Given the description of an element on the screen output the (x, y) to click on. 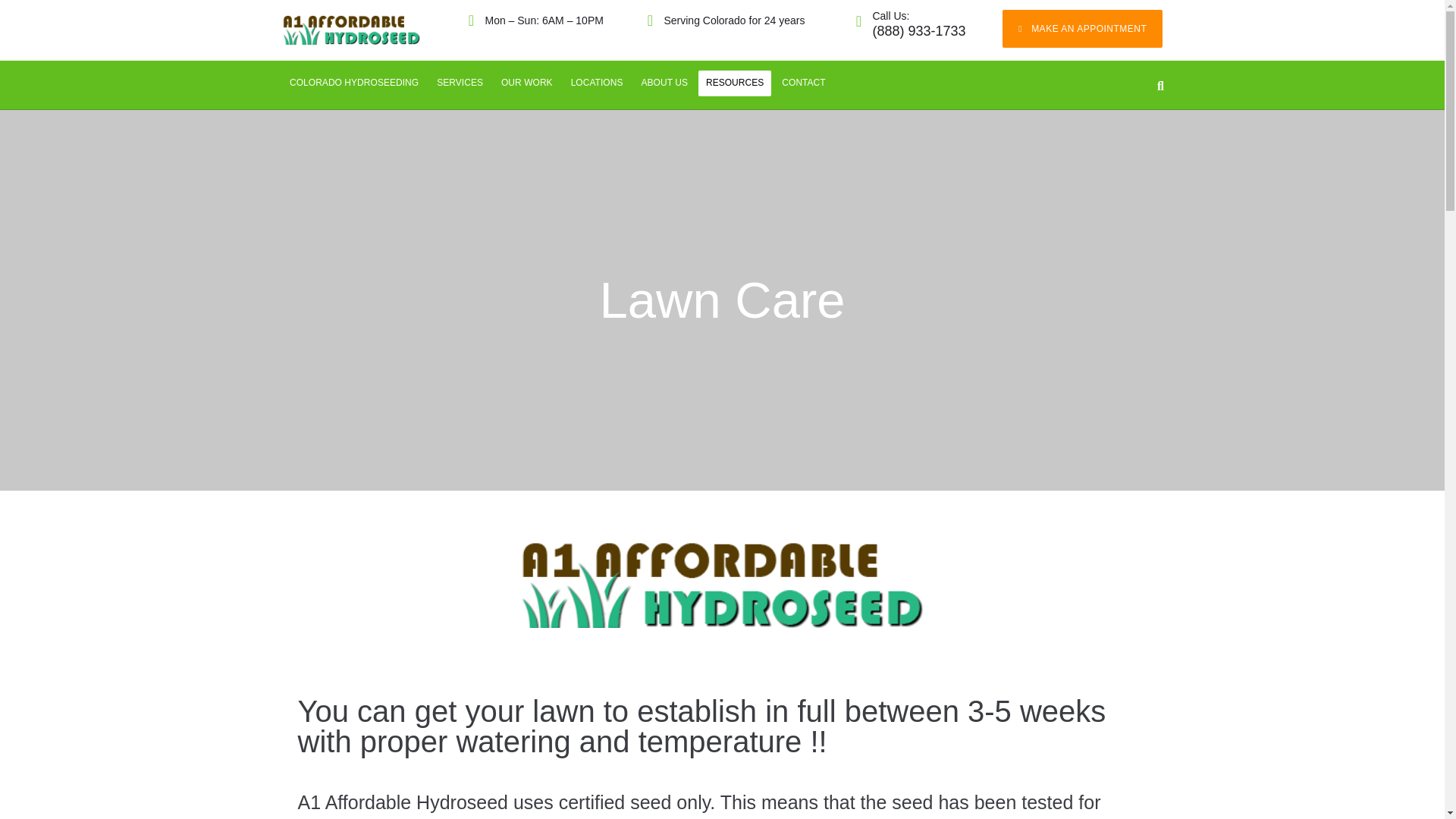
LOCATIONS (596, 83)
MAKE AN APPOINTMENT (1082, 28)
OUR WORK (526, 83)
CONTACT (803, 83)
ABOUT US (663, 83)
RESOURCES (734, 83)
SERVICES (459, 83)
COLORADO HYDROSEEDING (354, 83)
